Given the description of an element on the screen output the (x, y) to click on. 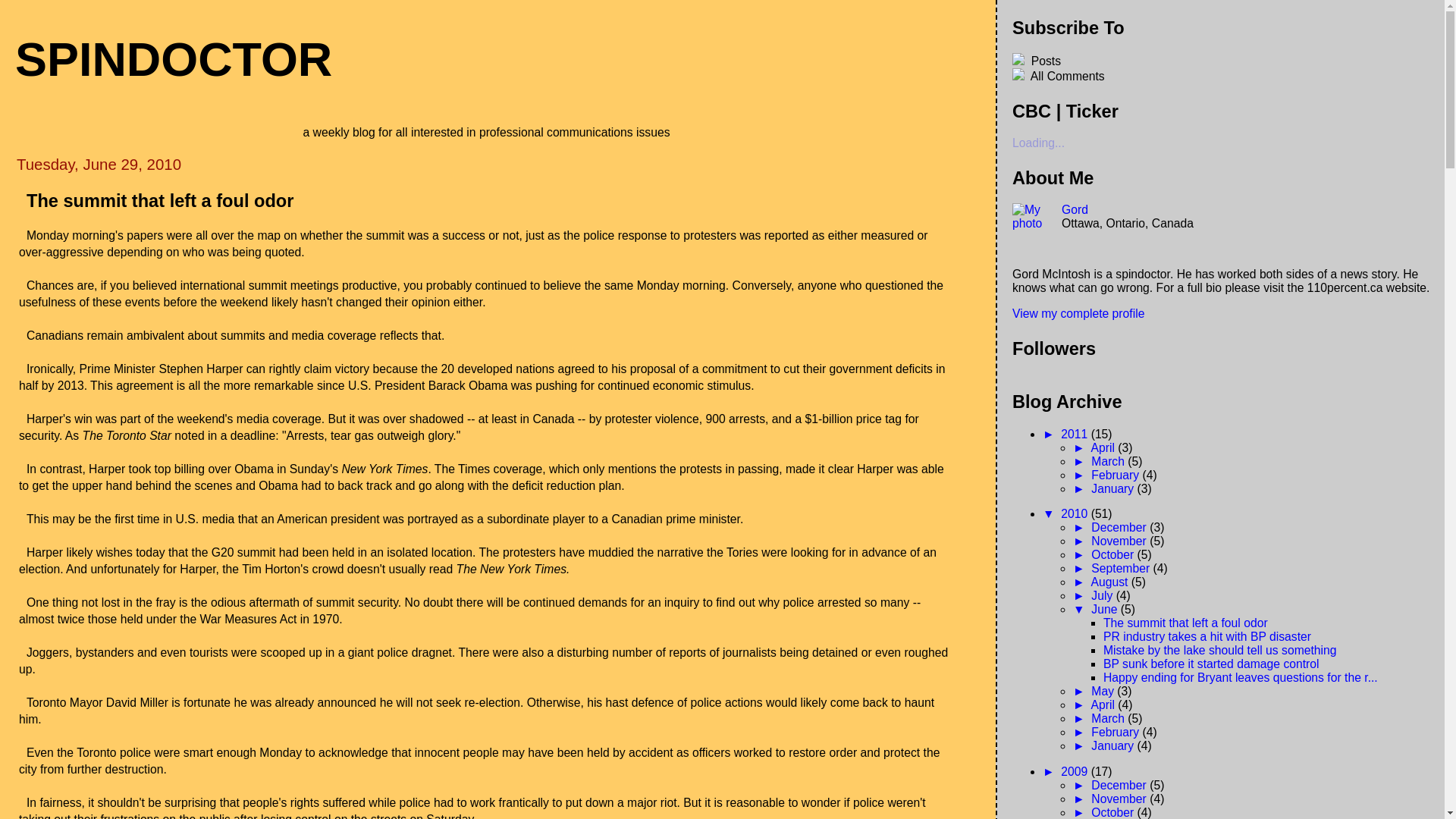
Posts Element type: text (1225, 60)
November Element type: text (1120, 540)
2009 Element type: text (1075, 771)
May Element type: text (1104, 690)
June Element type: text (1105, 608)
View my complete profile Element type: text (1078, 313)
January Element type: text (1113, 488)
December Element type: text (1120, 526)
October Element type: text (1113, 554)
The summit that left a foul odor Element type: text (159, 200)
BP sunk before it started damage control Element type: text (1211, 663)
Gord Element type: text (1074, 209)
April Element type: text (1103, 447)
February Element type: text (1116, 474)
SPINDOCTOR Element type: text (173, 58)
February Element type: text (1116, 731)
All Comments Element type: text (1225, 75)
Loading... Element type: text (1038, 142)
Posts Element type: text (1043, 60)
The summit that left a foul odor Element type: text (1185, 622)
Happy ending for Bryant leaves questions for the r... Element type: text (1240, 677)
2011 Element type: text (1075, 433)
March Element type: text (1109, 461)
September Element type: text (1121, 567)
Mistake by the lake should tell us something Element type: text (1219, 649)
All Comments Element type: text (1065, 75)
December Element type: text (1120, 784)
January Element type: text (1113, 745)
November Element type: text (1120, 798)
March Element type: text (1109, 718)
2010 Element type: text (1075, 513)
August Element type: text (1110, 581)
PR industry takes a hit with BP disaster Element type: text (1207, 636)
April Element type: text (1103, 704)
July Element type: text (1103, 595)
